Given the description of an element on the screen output the (x, y) to click on. 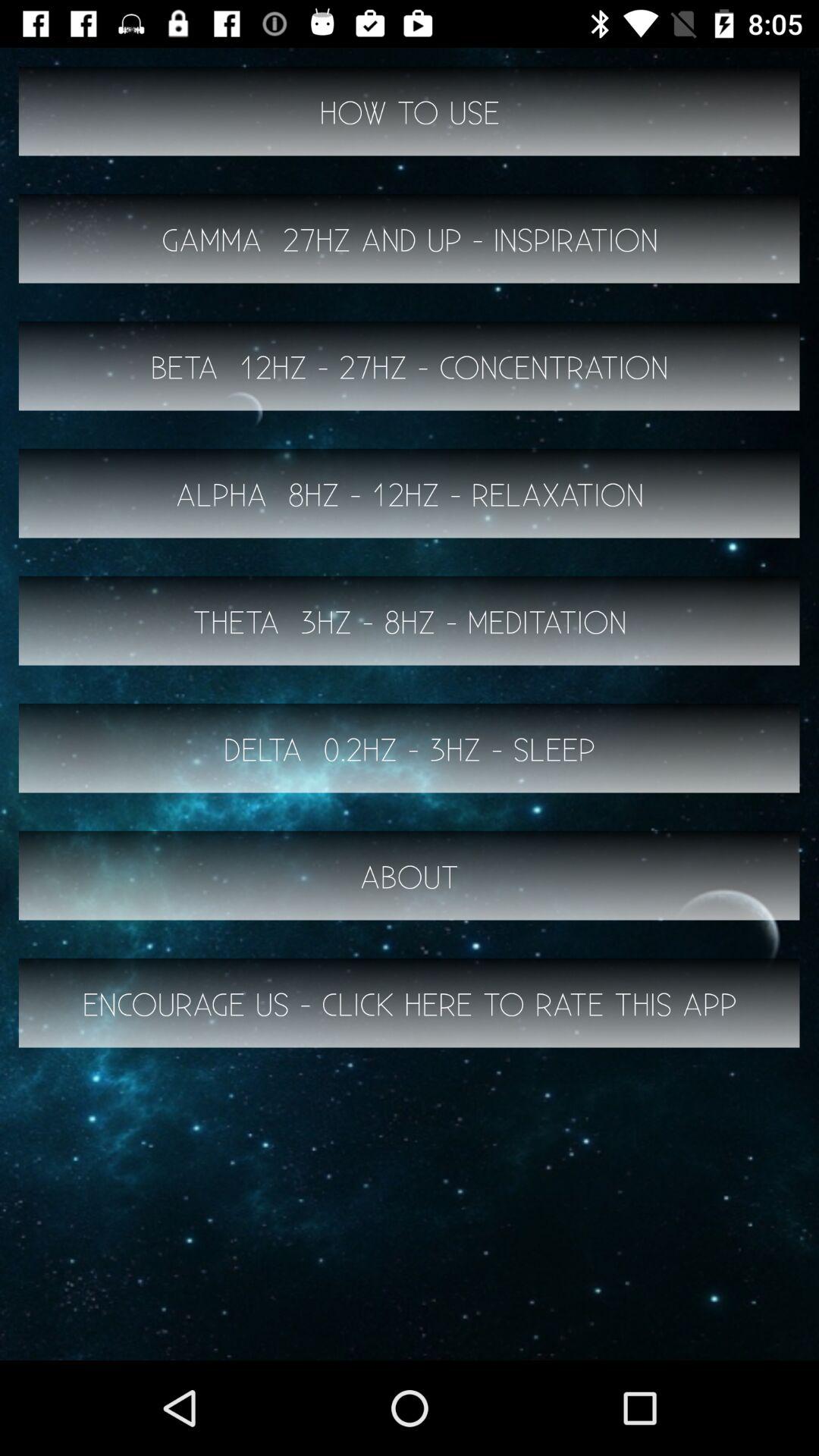
turn on the icon above the encourage us click item (409, 875)
